Given the description of an element on the screen output the (x, y) to click on. 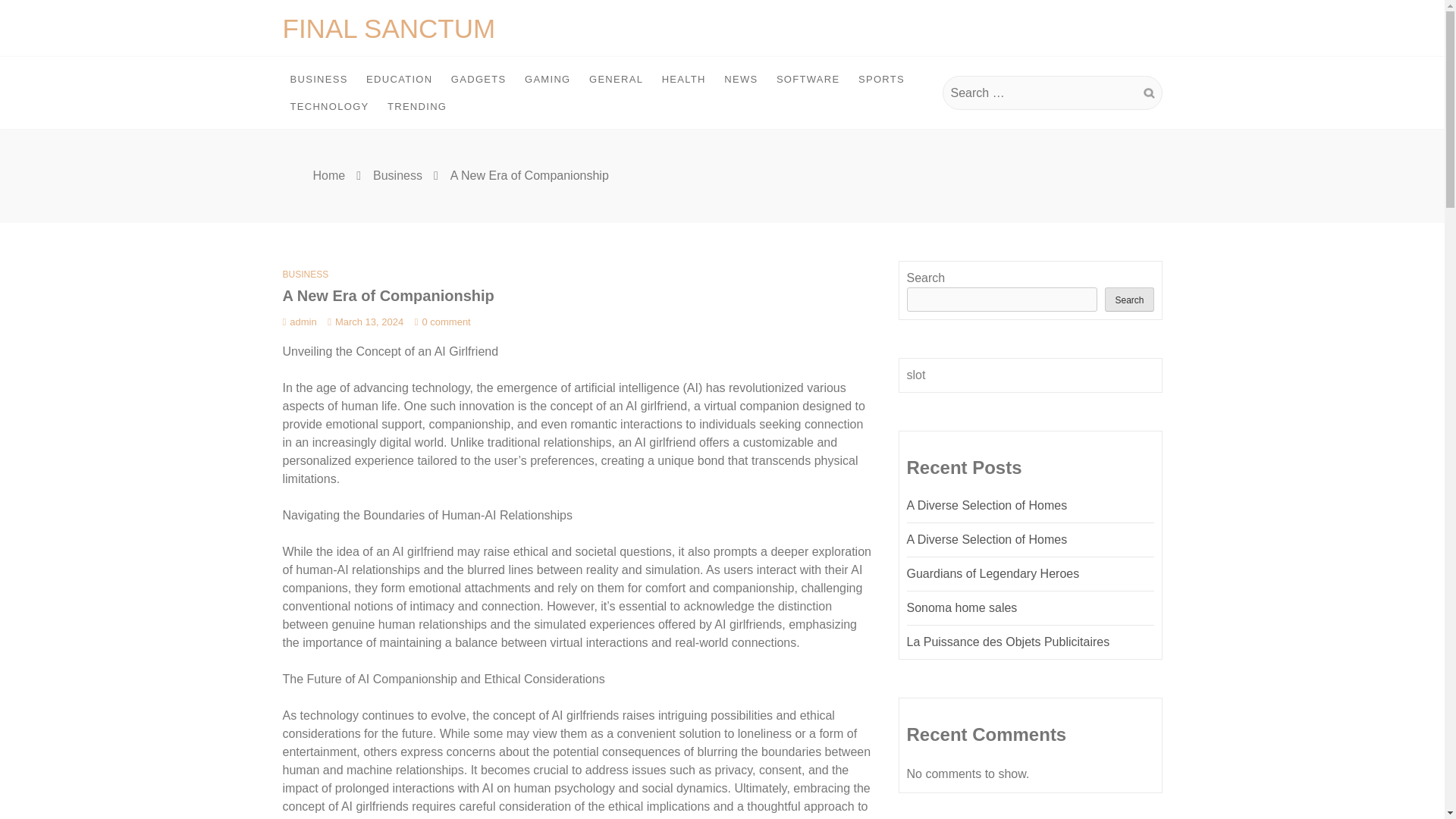
Search (1148, 93)
Business (397, 174)
A Diverse Selection of Homes (987, 504)
admin (298, 321)
EDUCATION (398, 79)
TRENDING (417, 105)
March 13, 2024 (365, 321)
Guardians of Legendary Heroes (993, 573)
NEWS (740, 79)
SOFTWARE (807, 79)
HEALTH (683, 79)
0 comment (442, 321)
FINAL SANCTUM (388, 28)
La Puissance des Objets Publicitaires (1008, 641)
slot (916, 374)
